Given the description of an element on the screen output the (x, y) to click on. 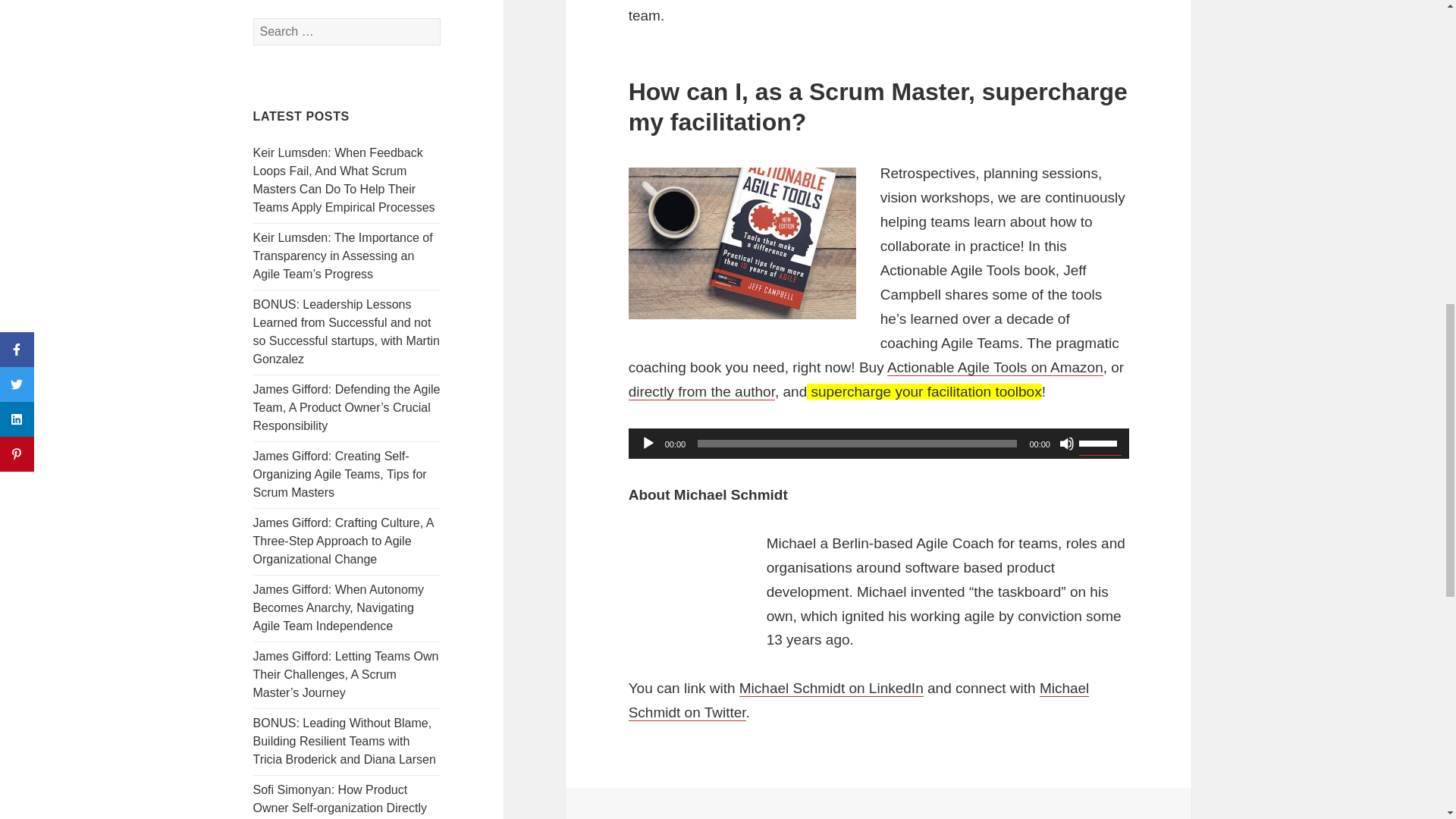
Actionable Agile Tools on Amazon (994, 367)
Mute (1066, 443)
